Given the description of an element on the screen output the (x, y) to click on. 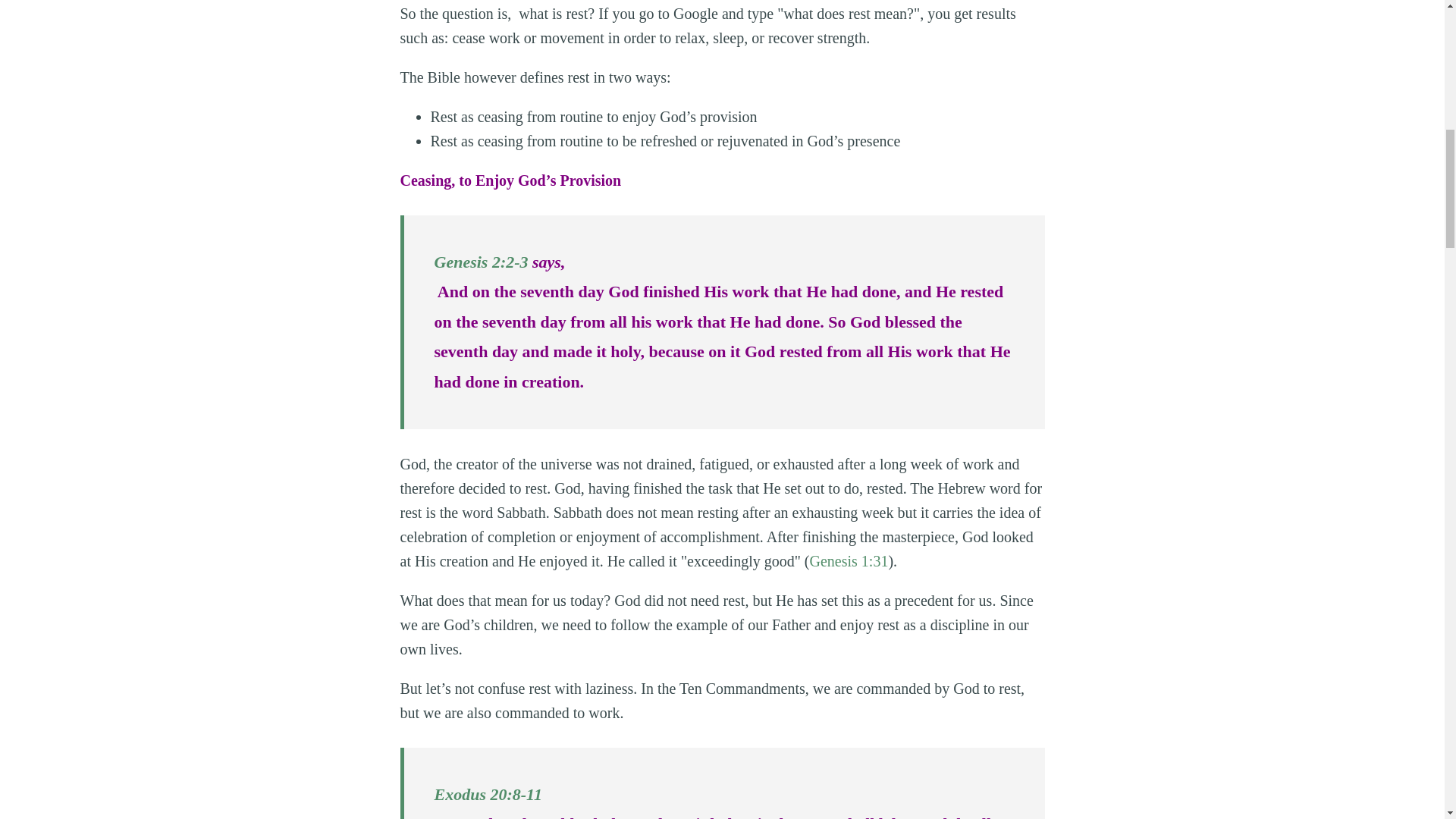
Exodus 20:8-11 (487, 793)
Genesis 1:31 (848, 560)
Genesis 2:2-3 (480, 261)
